Given the description of an element on the screen output the (x, y) to click on. 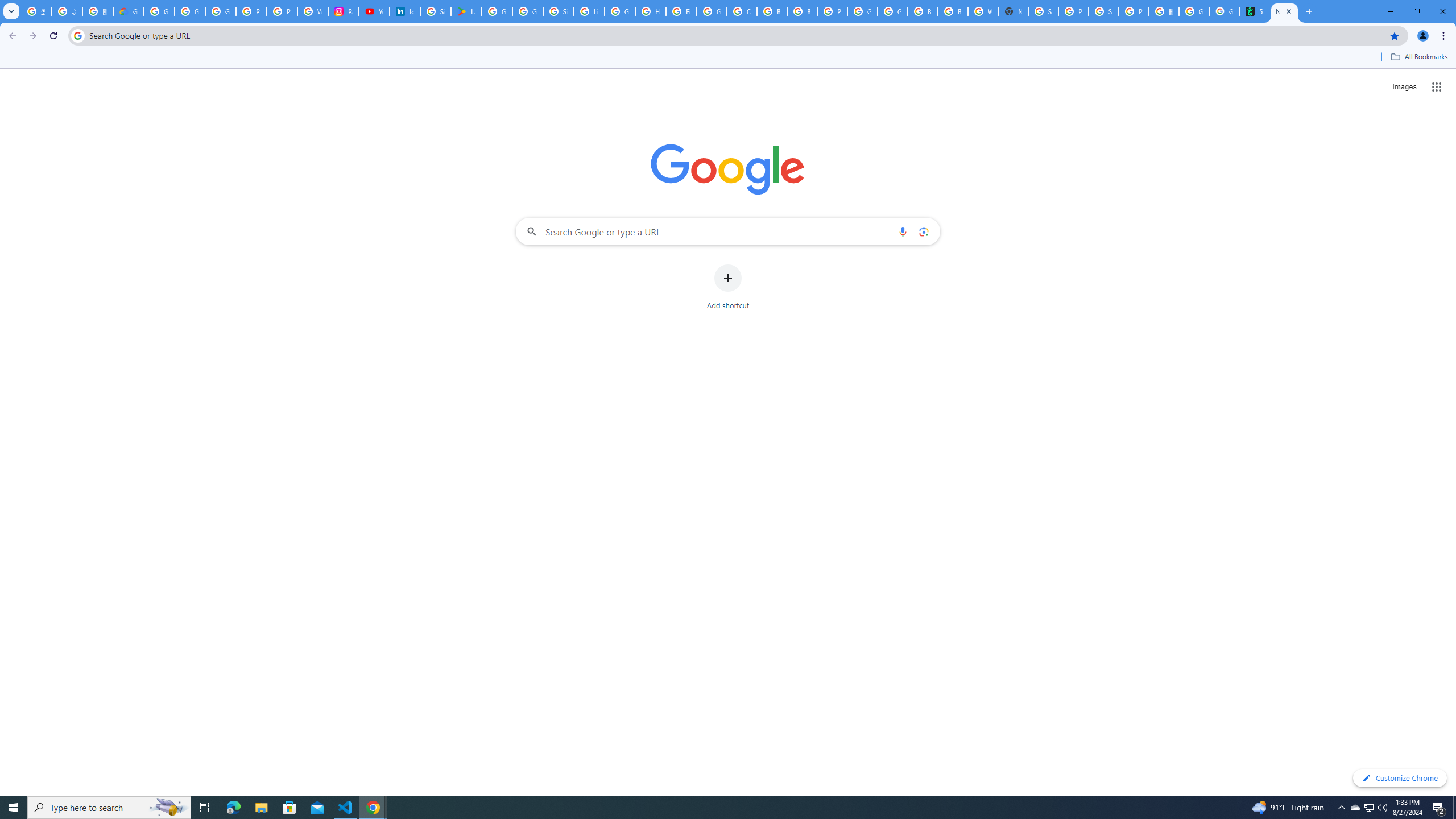
Sign in - Google Accounts (1042, 11)
